Given the description of an element on the screen output the (x, y) to click on. 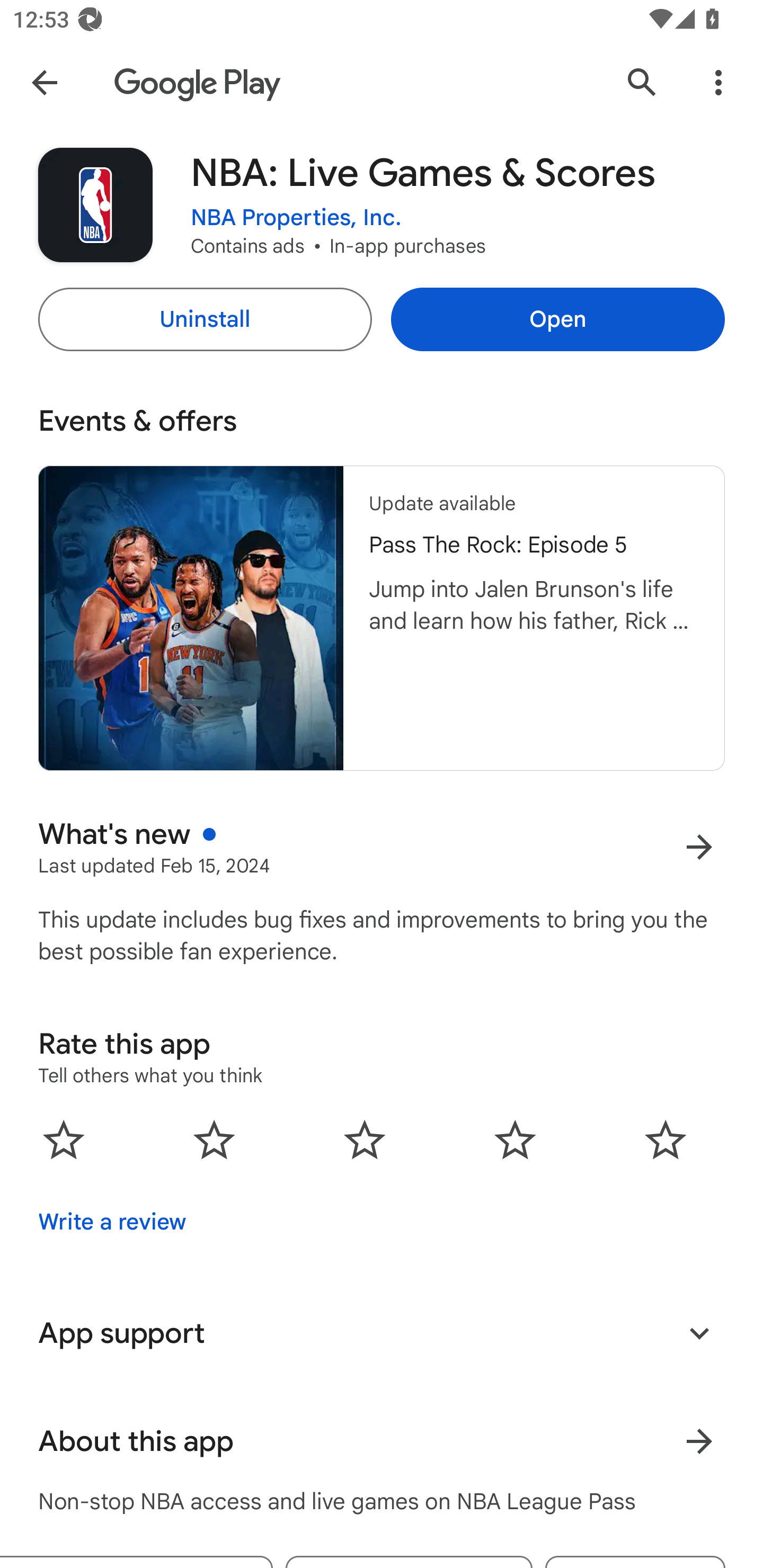
Navigate up (44, 81)
Search Google Play (642, 81)
More Options (718, 81)
NBA Properties, Inc. (295, 217)
Uninstall (205, 318)
Open (557, 318)
More results for What's new (699, 847)
0.0 (364, 1138)
Write a review (112, 1221)
App support Expand (381, 1333)
Expand (699, 1333)
About this app Learn more About this app (381, 1441)
Learn more About this app (699, 1441)
